Given the description of an element on the screen output the (x, y) to click on. 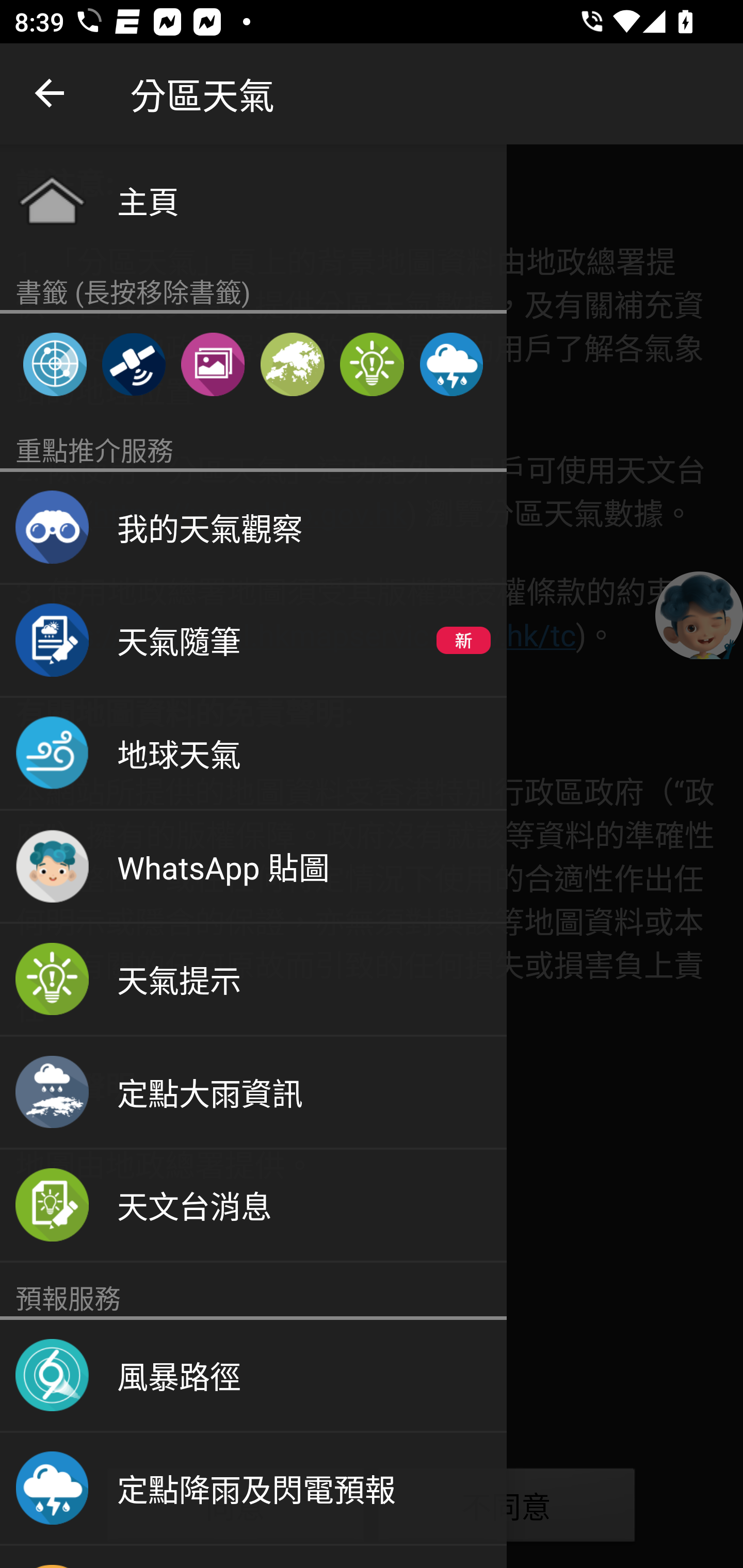
向上瀏覽 (50, 93)
主頁 (253, 199)
雷達圖像 (54, 364)
衛星圖像 (133, 364)
天氣照片 (212, 364)
分區天氣 (292, 364)
天氣提示 (371, 364)
定點降雨及閃電預報 (451, 364)
我的天氣觀察 (253, 527)
天氣隨筆 新功能 (253, 640)
地球天氣 (253, 753)
WhatsApp 貼圖 (253, 866)
天氣提示 (253, 979)
定點大雨資訊 (253, 1092)
天文台消息 (253, 1205)
風暴路徑 (253, 1375)
定點降雨及閃電預報 (253, 1488)
